Given the description of an element on the screen output the (x, y) to click on. 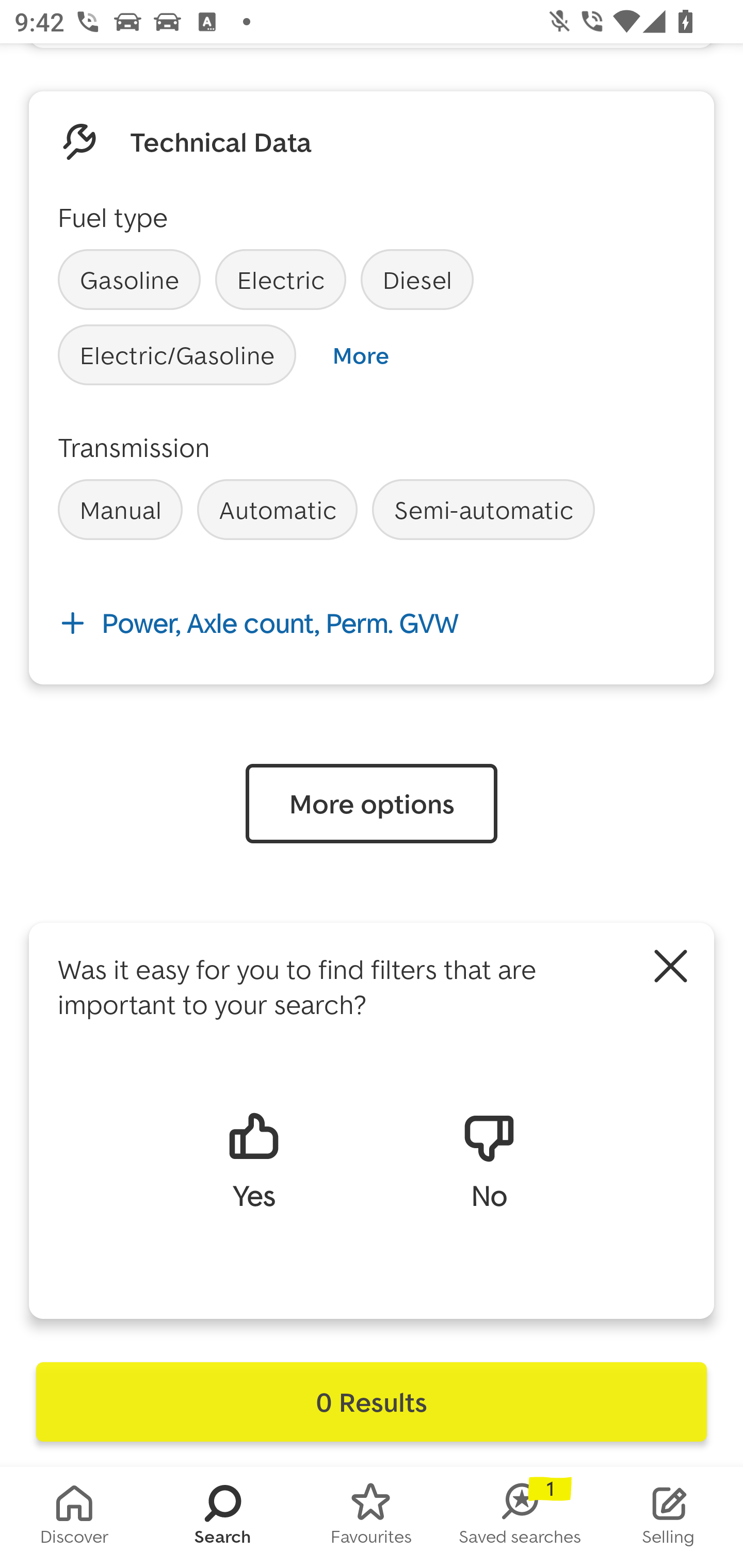
Technical Data (221, 141)
Fuel type (112, 217)
Gasoline (128, 279)
Electric (280, 279)
Diesel (417, 279)
Electric/Gasoline (176, 354)
More (360, 354)
Transmission (133, 446)
Manual (119, 509)
Automatic (276, 509)
Semi-automatic (483, 509)
Power, Axle count, Perm. GVW (371, 623)
More options (371, 803)
Yes (253, 1159)
No (489, 1159)
0 Results (371, 1401)
HOMESCREEN Discover (74, 1517)
SEARCH Search (222, 1517)
FAVORITES Favourites (371, 1517)
SAVED_SEARCHES Saved searches 1 (519, 1517)
STOCK_LIST Selling (668, 1517)
